Given the description of an element on the screen output the (x, y) to click on. 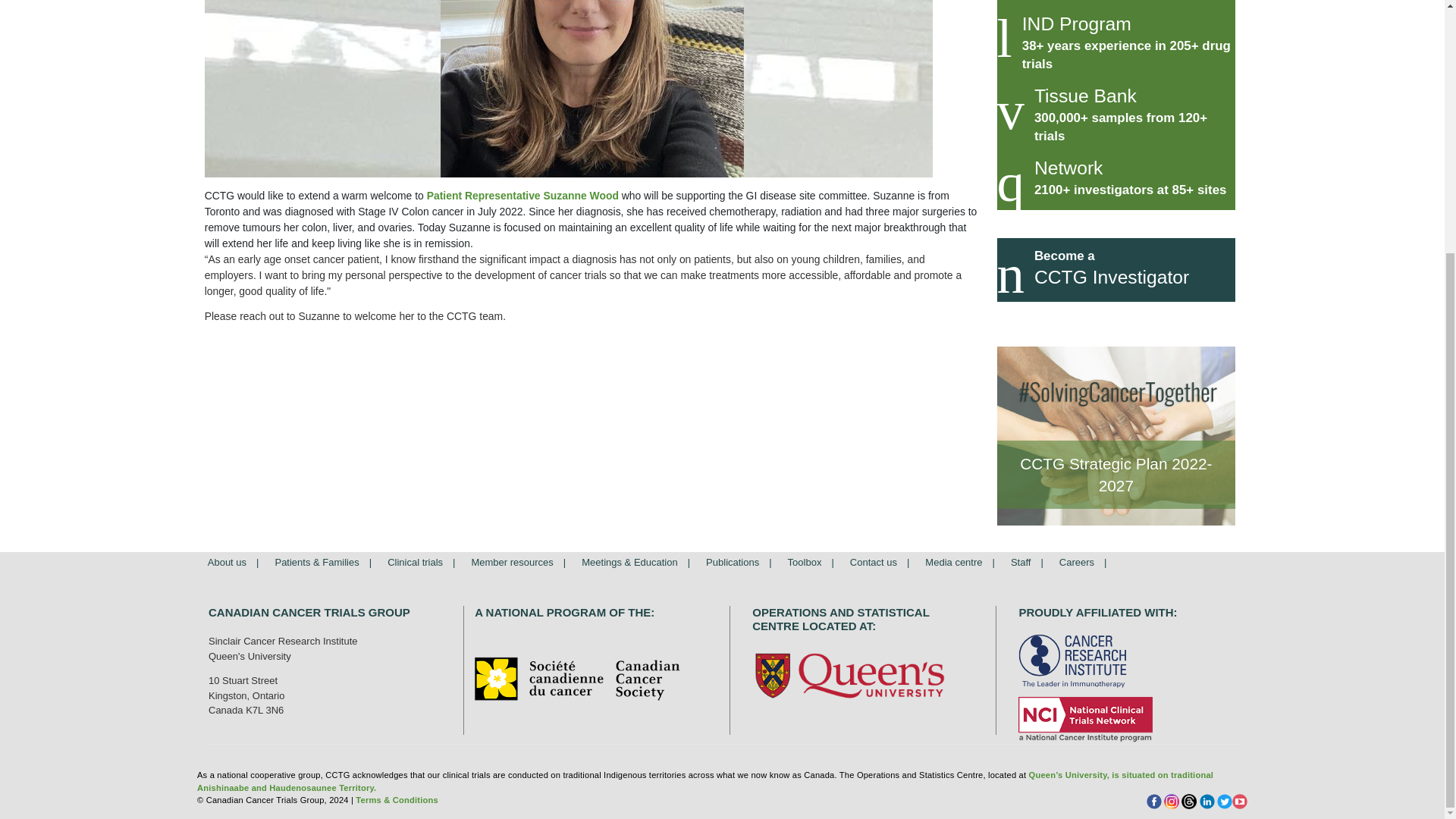
CCTG Strategic Plan 2022-2027 (1114, 435)
Patient Representative Suzanne Wood (569, 88)
